Given the description of an element on the screen output the (x, y) to click on. 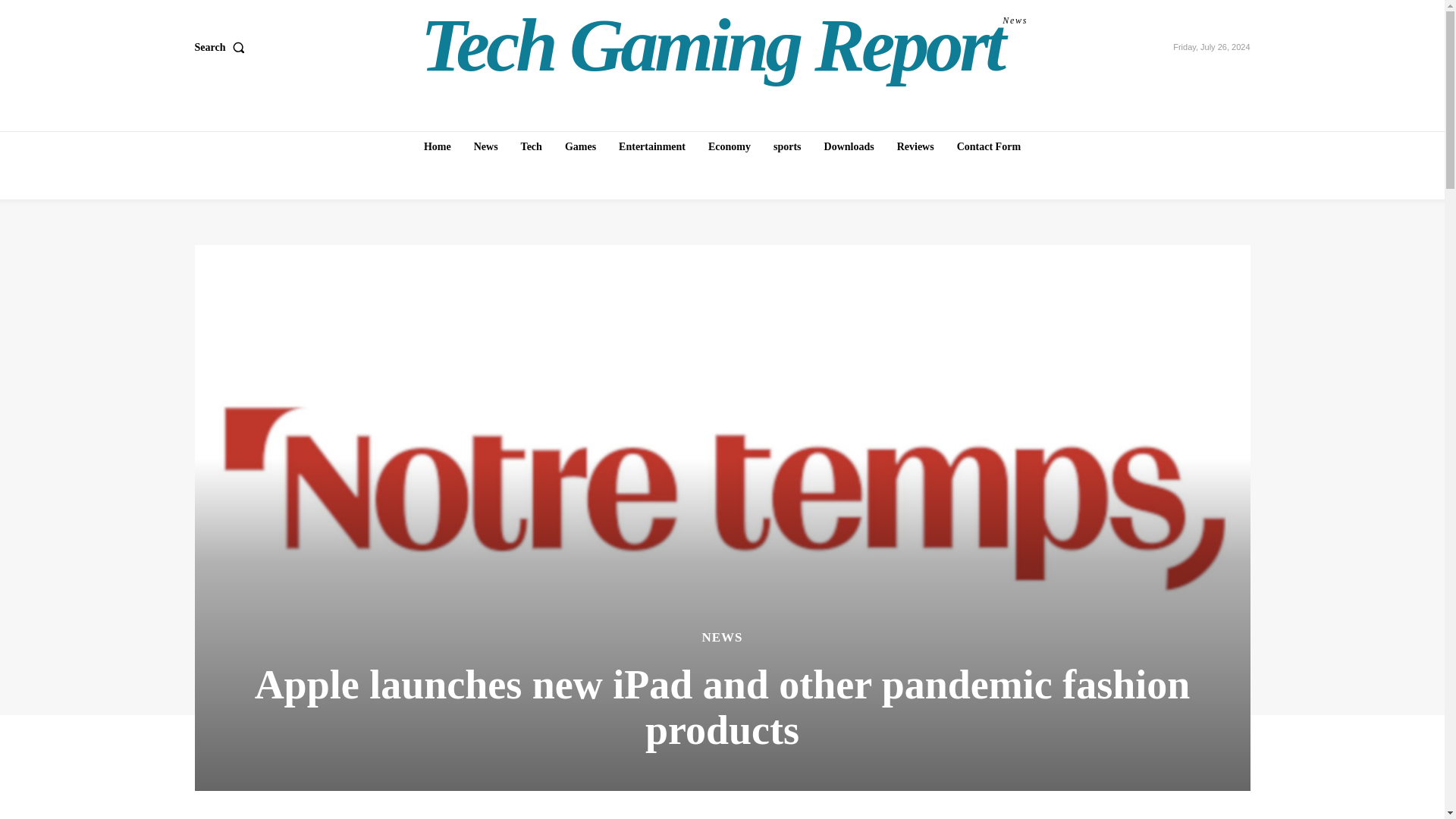
Reviews (915, 146)
Economy (729, 146)
sports (787, 146)
News (485, 146)
Games (580, 146)
Contact Form (988, 146)
Search (221, 47)
Downloads (849, 146)
Tech (531, 146)
Entertainment (652, 146)
Home (724, 45)
